Given the description of an element on the screen output the (x, y) to click on. 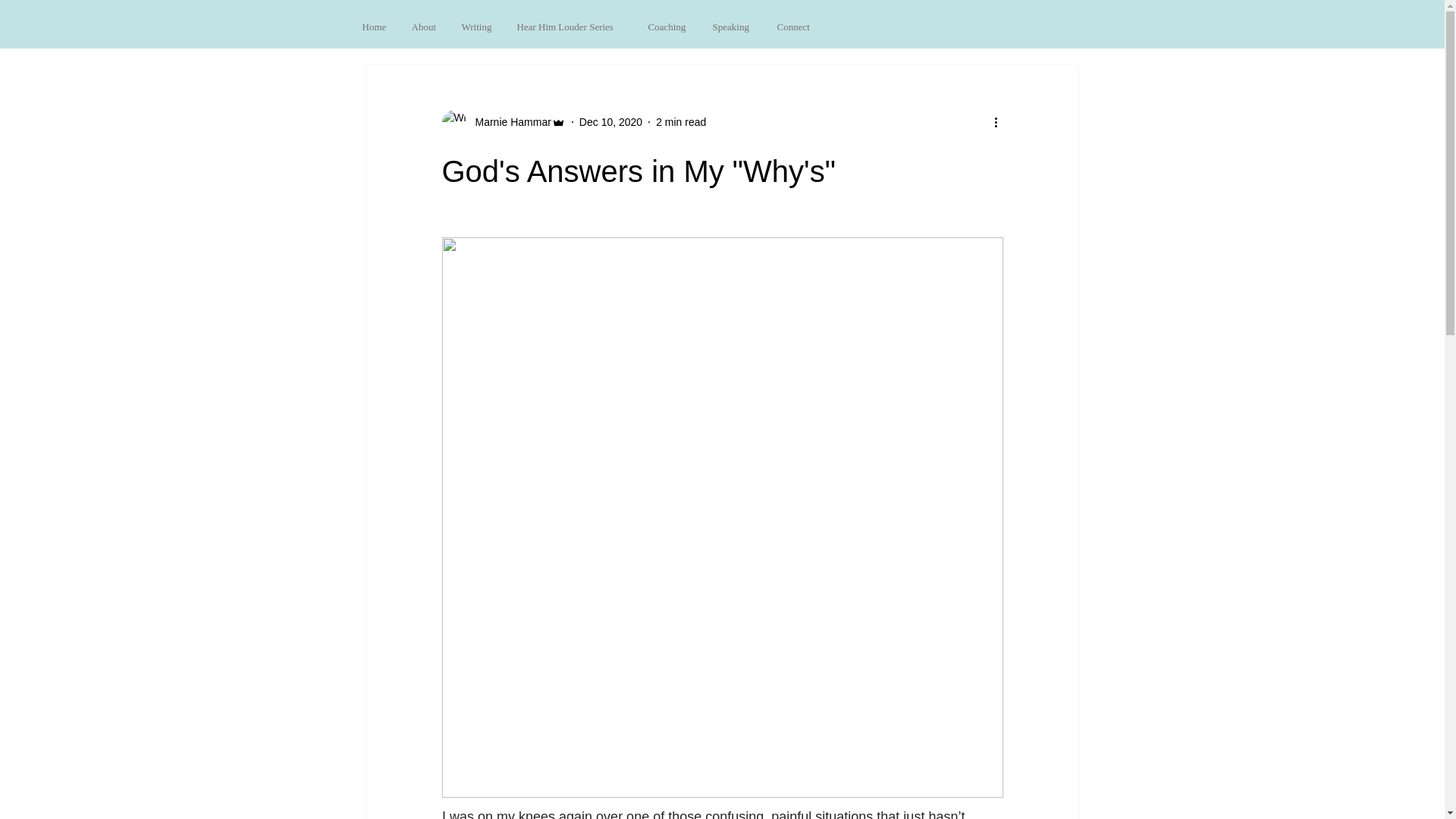
About (424, 26)
2 min read (681, 121)
Speaking (732, 26)
Hear Him Louder Series (570, 26)
Coaching (669, 26)
Marnie Hammar (507, 121)
Home (374, 26)
Dec 10, 2020 (610, 121)
Connect (795, 26)
Writing (477, 26)
